Given the description of an element on the screen output the (x, y) to click on. 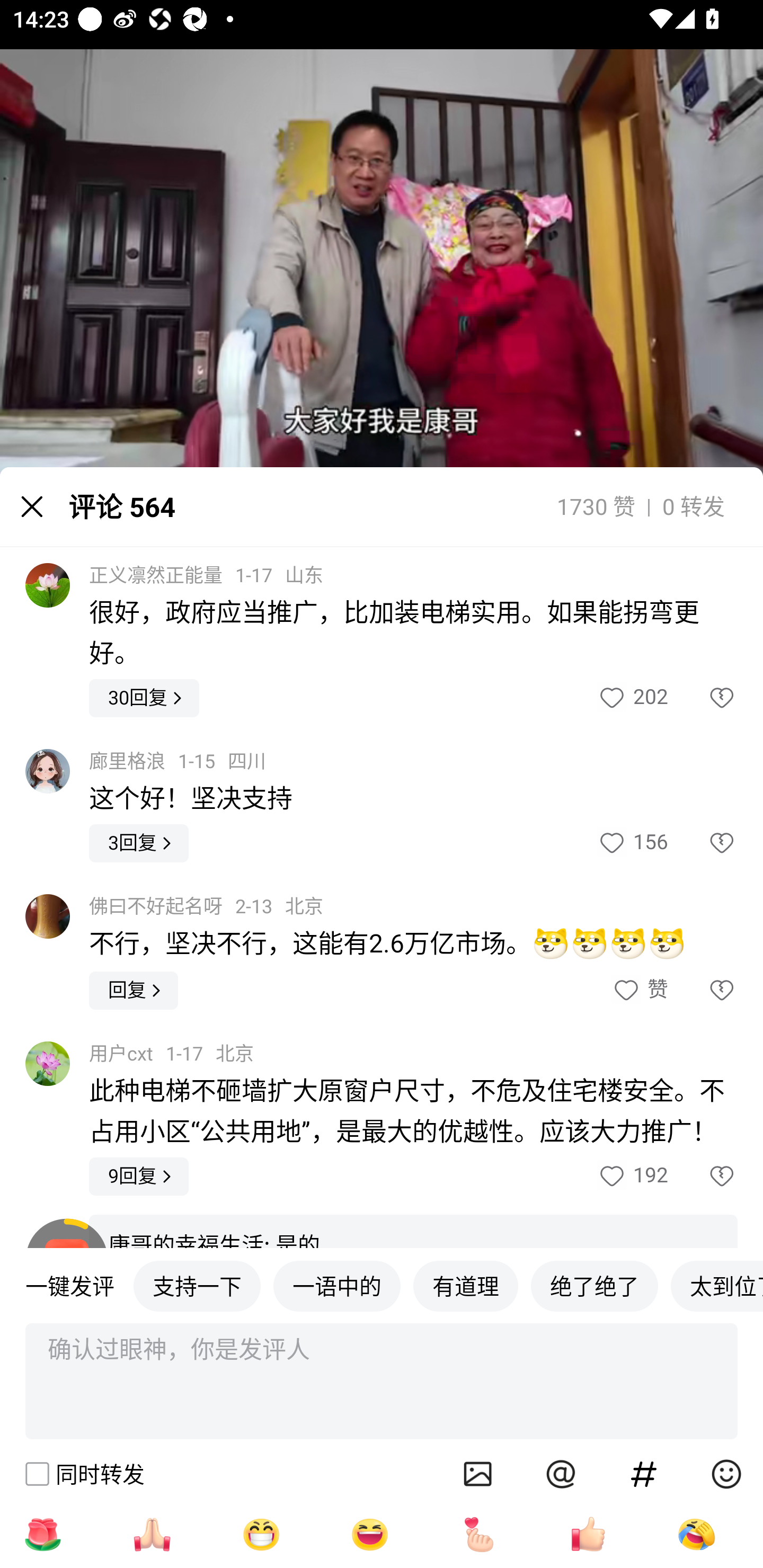
支持一下 (196, 1285)
一语中的 (336, 1285)
有道理 (465, 1285)
绝了绝了 (594, 1285)
太到位了 (716, 1285)
 确认过眼神，你是发评人 (381, 1381)
同时转发 (83, 1473)
相册 (478, 1473)
at (560, 1473)
话题 (643, 1473)
表情 (726, 1473)
[玫瑰] (42, 1534)
[祈祷] (152, 1534)
[呲牙] (261, 1534)
[大笑] (369, 1534)
[比心] (478, 1534)
[赞] (588, 1534)
[捂脸] (696, 1534)
